Given the description of an element on the screen output the (x, y) to click on. 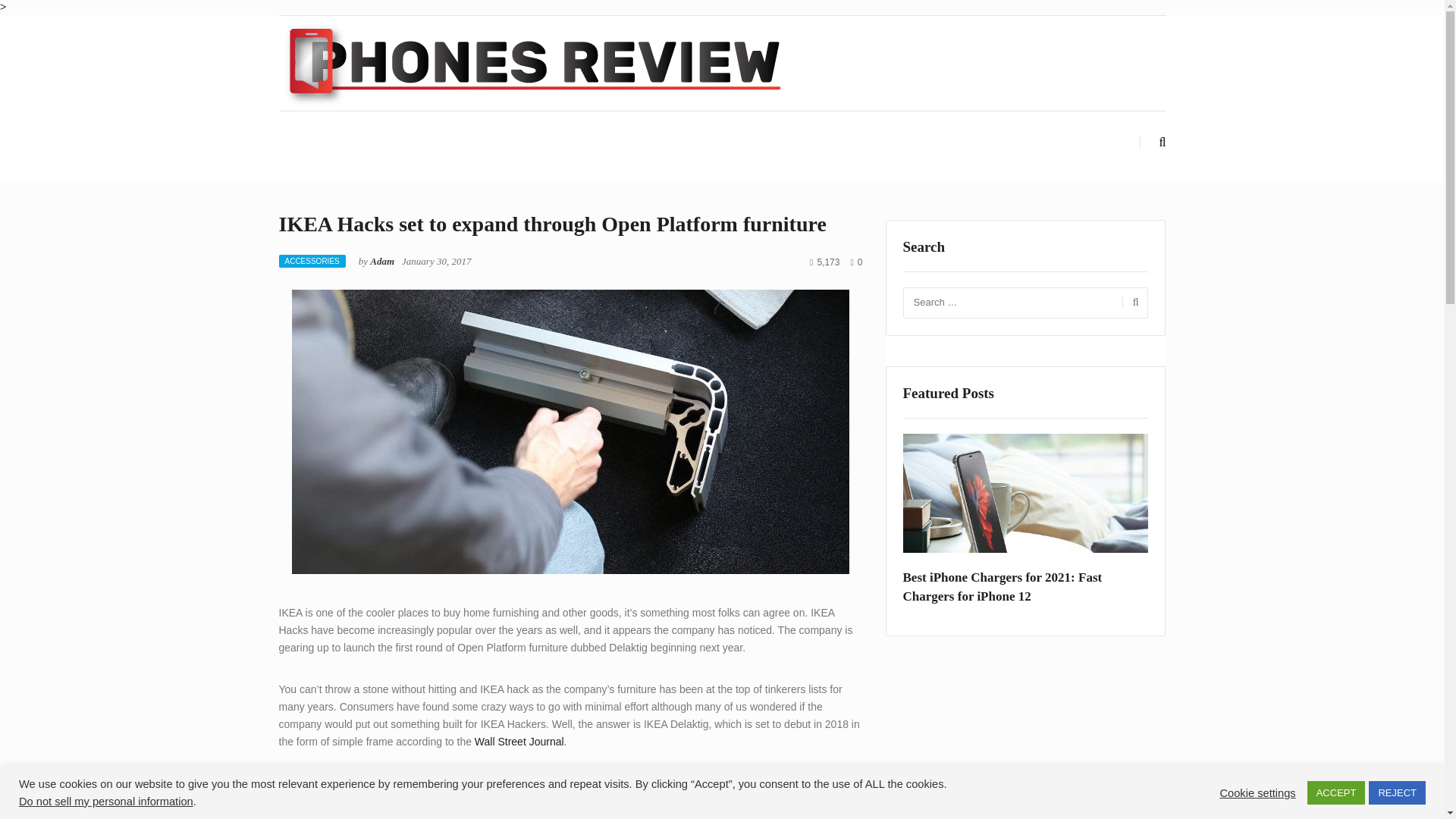
Search (1133, 302)
REJECT (1396, 792)
Search (1133, 302)
Search (1133, 302)
Adam (381, 260)
Do not sell my personal information (105, 801)
Cookie settings (1257, 792)
Wall Street Journal (519, 741)
ACCEPT (1336, 792)
Cookie Policy (565, 806)
ACCESSORIES (312, 260)
Best iPhone Chargers for 2021: Fast Chargers for iPhone 12 (1025, 587)
0 (855, 261)
